Given the description of an element on the screen output the (x, y) to click on. 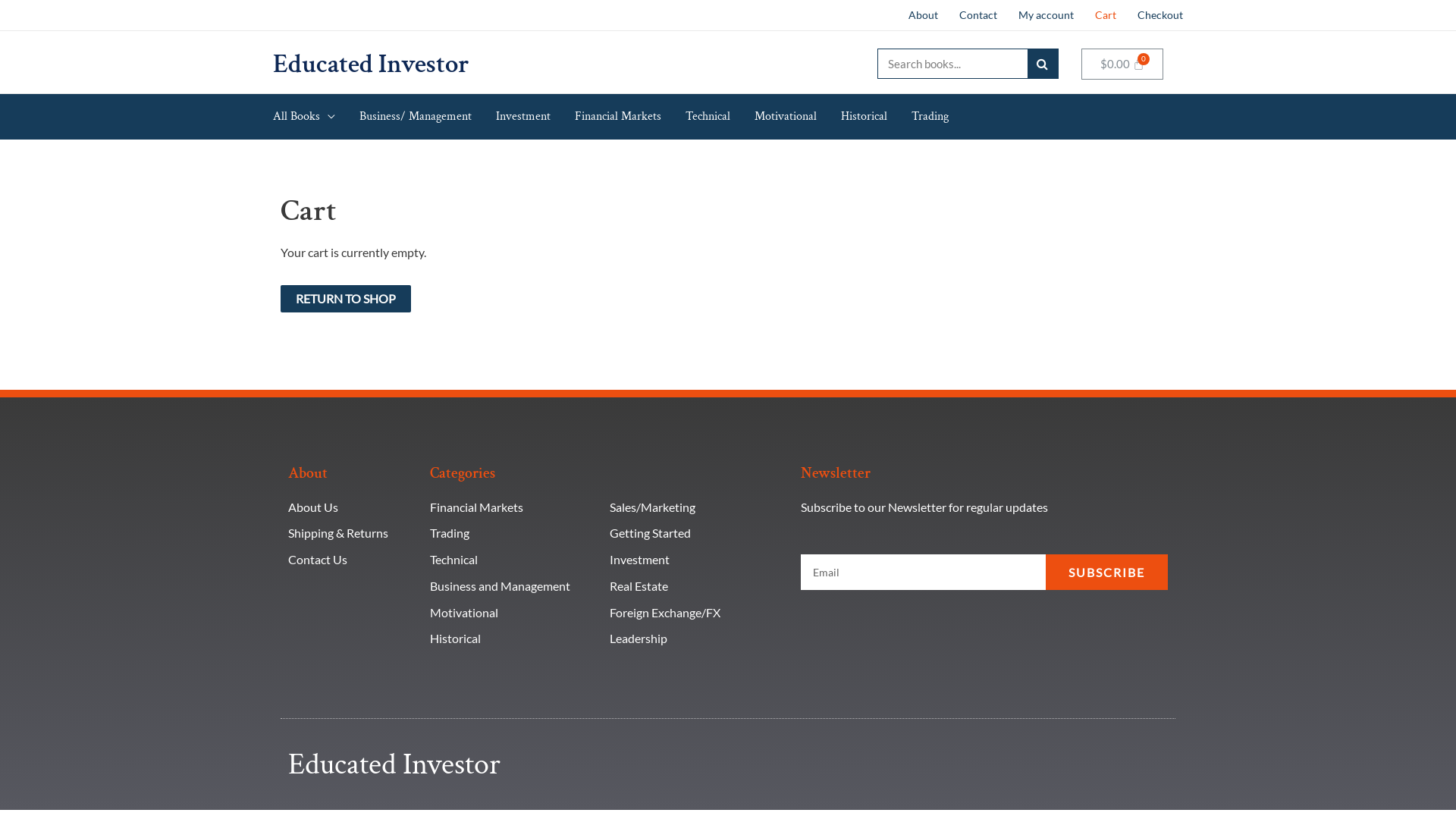
Getting Started Element type: text (697, 532)
Search Element type: hover (952, 63)
Historical Element type: text (875, 116)
Motivational Element type: text (511, 612)
Search Element type: hover (1041, 63)
Motivational Element type: text (797, 116)
My account Element type: text (1045, 15)
Investment Element type: text (697, 559)
Leadership Element type: text (697, 638)
Real Estate Element type: text (697, 585)
Technical Element type: text (511, 559)
Business and Management Element type: text (511, 585)
Historical Element type: text (511, 638)
Contact Element type: text (977, 15)
Foreign Exchange/FX Element type: text (697, 612)
Shipping & Returns Element type: text (351, 532)
Educated Investor Element type: text (371, 64)
RETURN TO SHOP Element type: text (345, 298)
SUBSCRIBE Element type: text (1106, 571)
Investment Element type: text (534, 116)
Technical Element type: text (719, 116)
About Us Element type: text (351, 506)
Contact Us Element type: text (351, 559)
$0.00 Element type: text (1122, 63)
Trading Element type: text (929, 116)
Trading Element type: text (511, 532)
About Element type: text (922, 15)
Checkout Element type: text (1154, 15)
Cart Element type: text (1105, 15)
Financial Markets Element type: text (511, 506)
All Books Element type: text (316, 116)
Business/ Management Element type: text (427, 116)
Financial Markets Element type: text (629, 116)
Sales/Marketing Element type: text (697, 506)
